Given the description of an element on the screen output the (x, y) to click on. 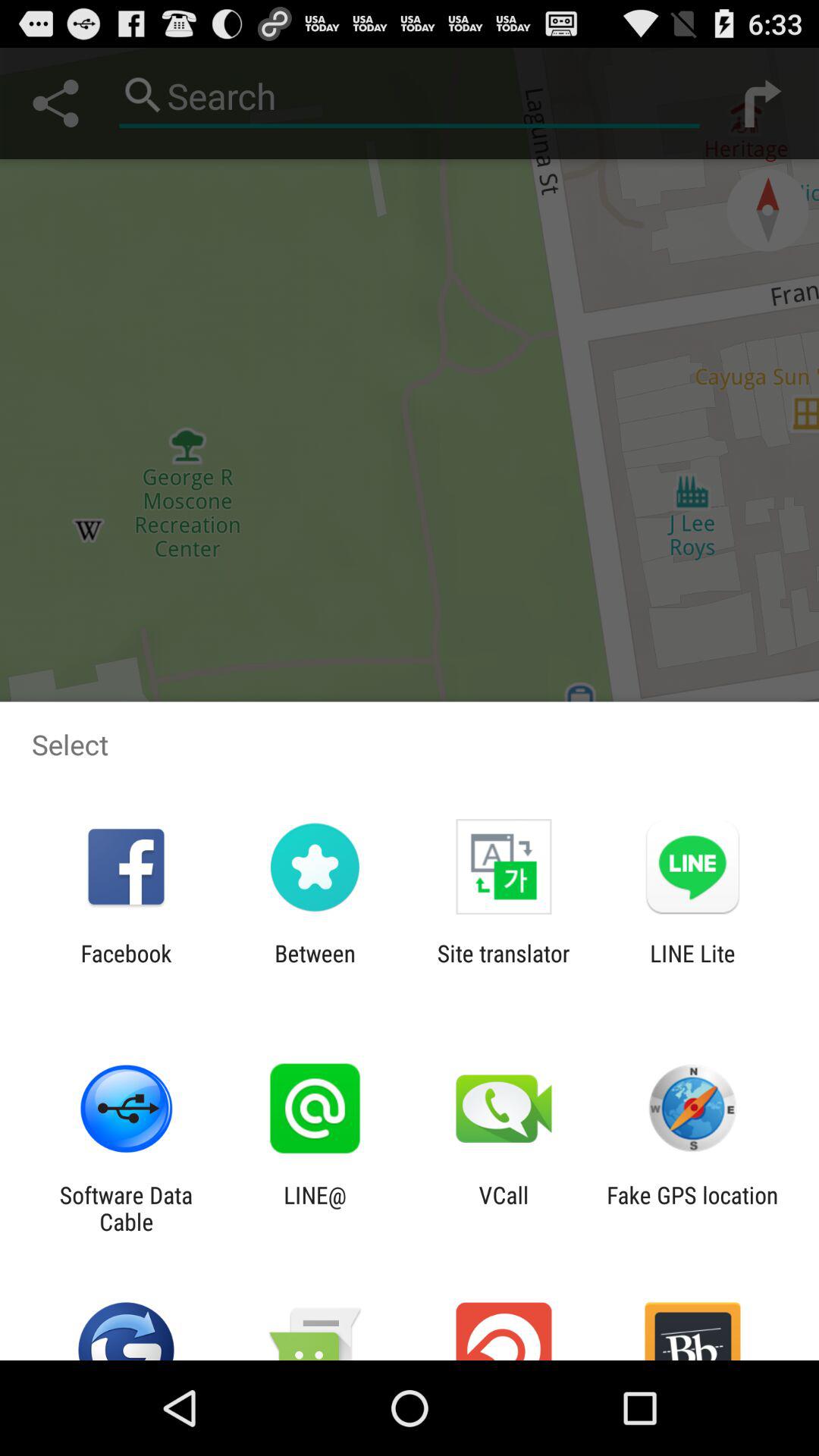
turn on app to the left of line lite (503, 966)
